Given the description of an element on the screen output the (x, y) to click on. 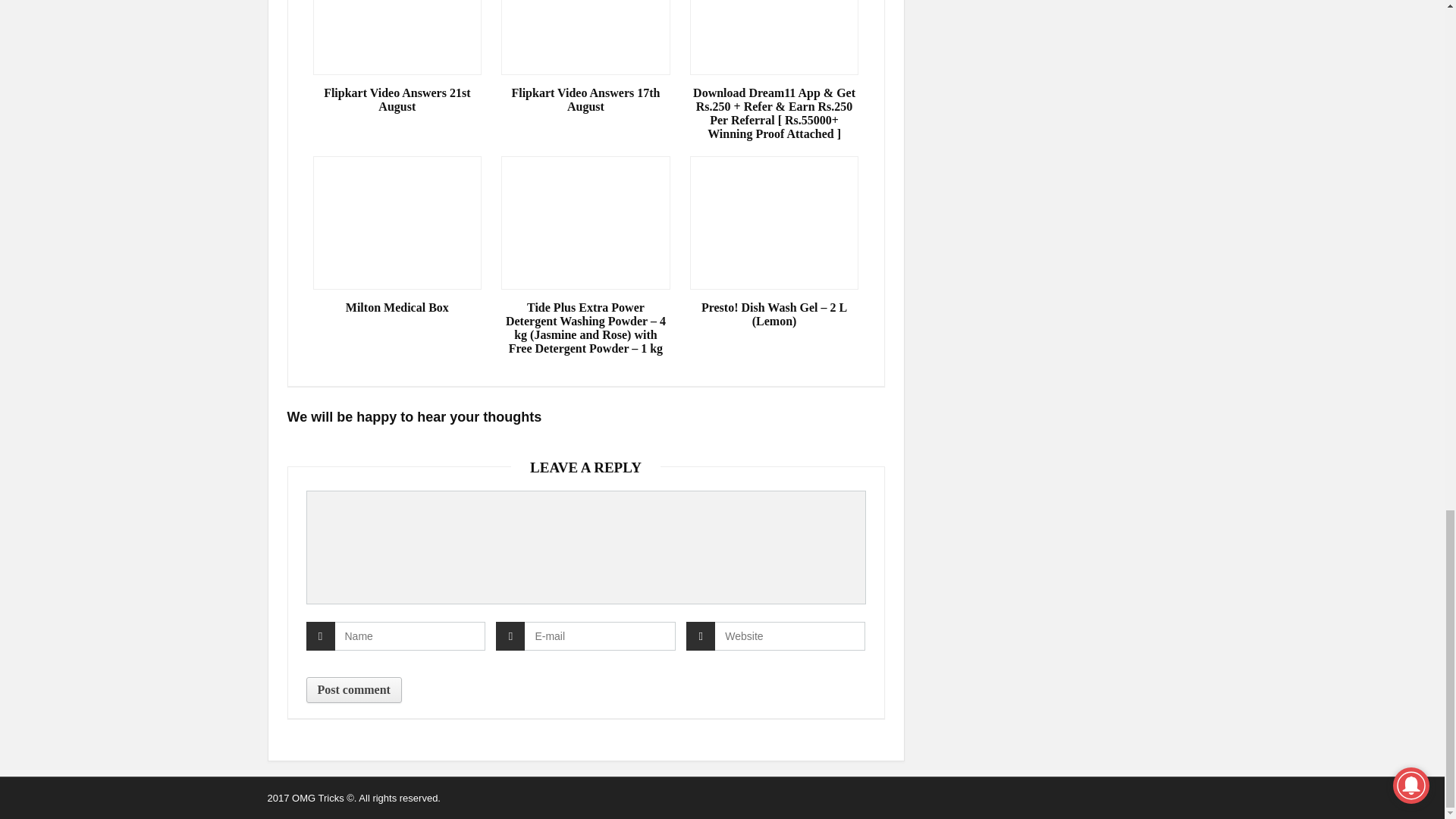
Milton Medical Box (397, 307)
Flipkart Video Answers 17th August (584, 99)
Flipkart Video Answers 21st August (397, 99)
Post comment (353, 689)
